Given the description of an element on the screen output the (x, y) to click on. 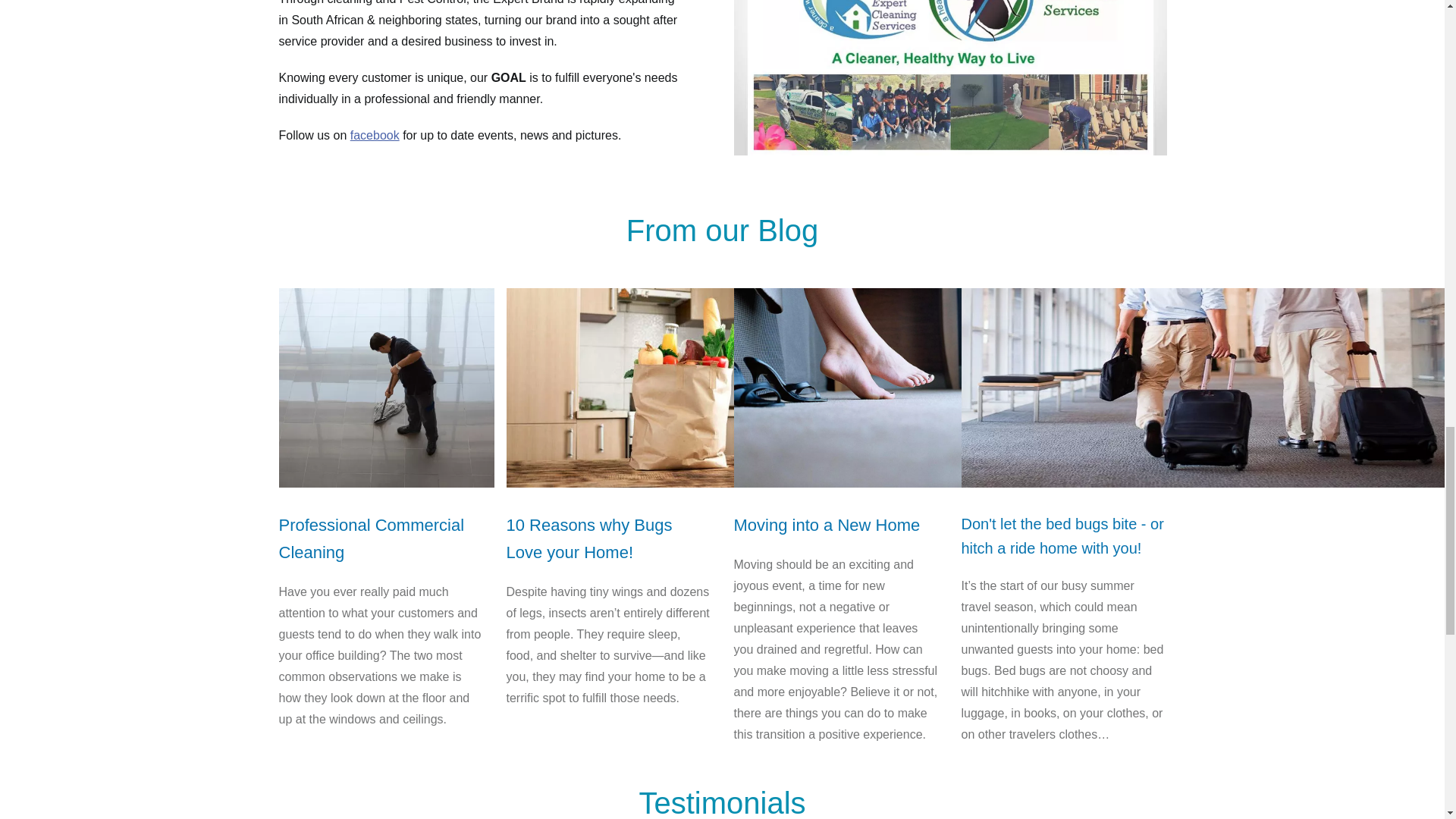
facebook (374, 134)
